Given the description of an element on the screen output the (x, y) to click on. 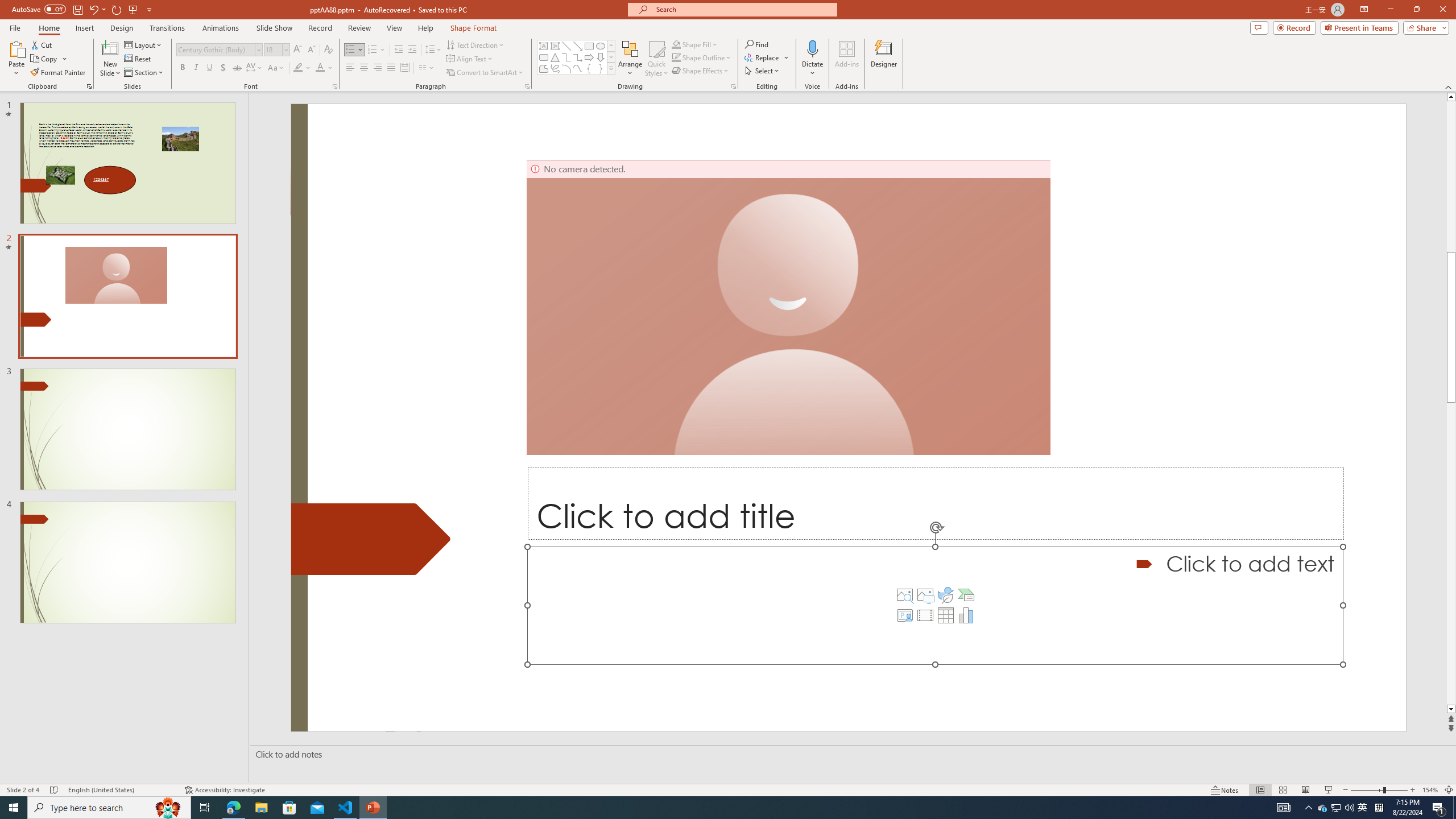
Align (1264, 58)
Simple Frame, Black (535, 56)
Metal Frame (343, 56)
Reflected Perspective Right (981, 56)
Rounded Diagonal Corner, White (694, 56)
Crop (1345, 58)
Selection Pane... (1238, 58)
Reset Picture (208, 72)
Transparency (160, 58)
